Given the description of an element on the screen output the (x, y) to click on. 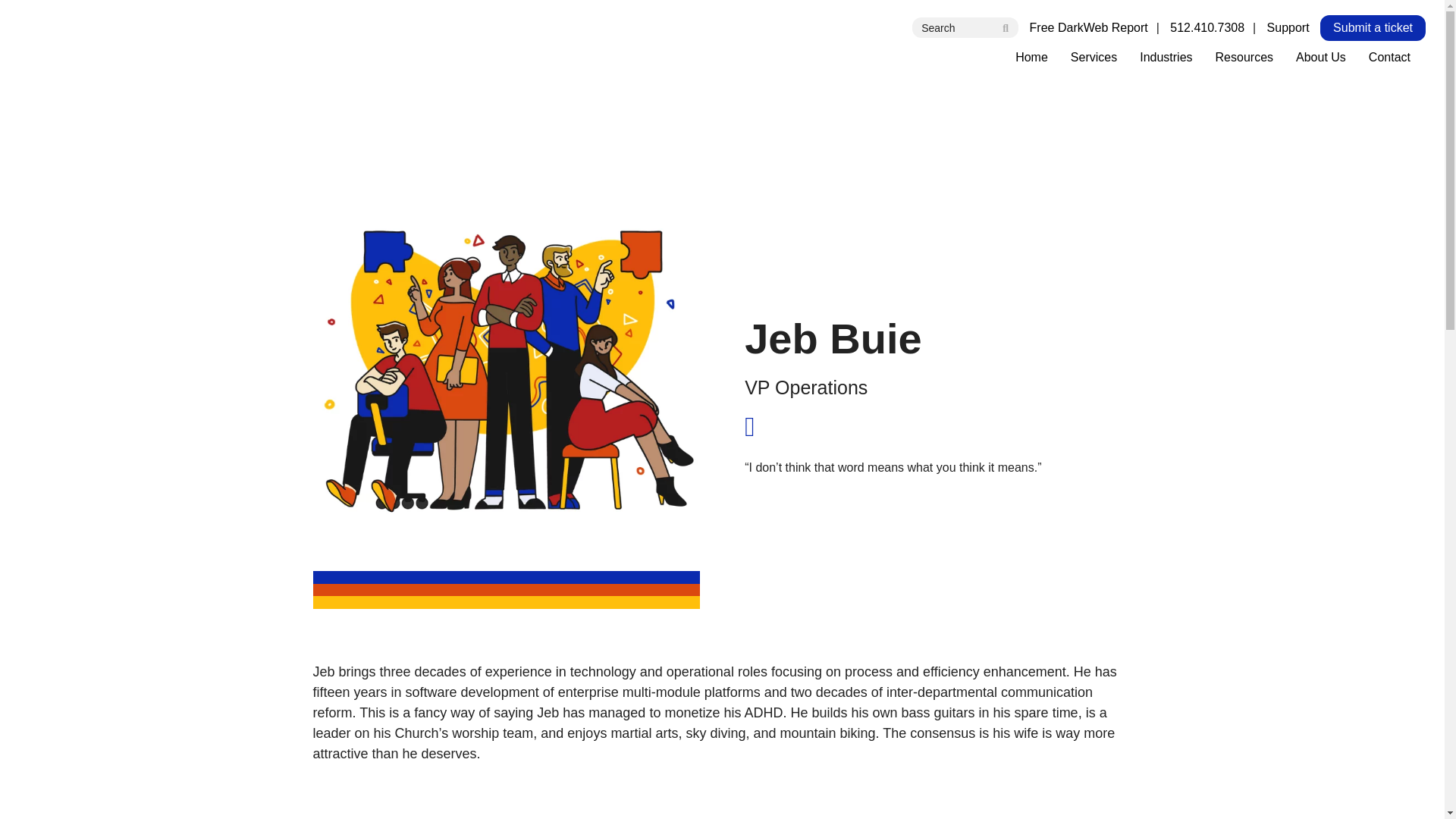
Free DarkWeb Report (1088, 27)
Contact (1389, 57)
Resources (1243, 57)
512.410.7308 (1207, 27)
About Us (1320, 57)
Services (1093, 57)
Submit a ticket (1372, 27)
Home (1031, 57)
Submit (1005, 27)
Support (1287, 27)
Industries (1166, 57)
